Given the description of an element on the screen output the (x, y) to click on. 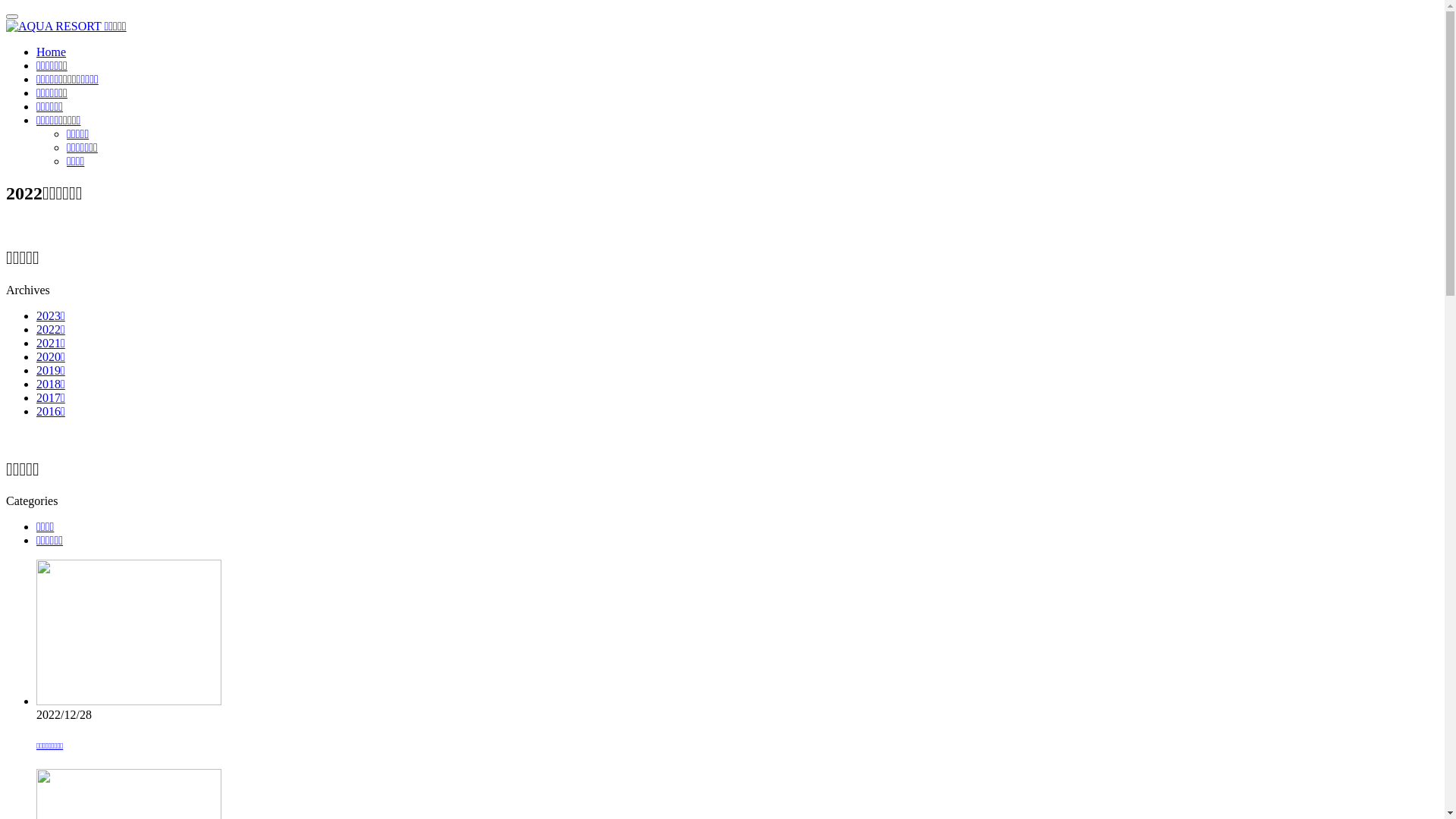
Home Element type: text (50, 51)
